Given the description of an element on the screen output the (x, y) to click on. 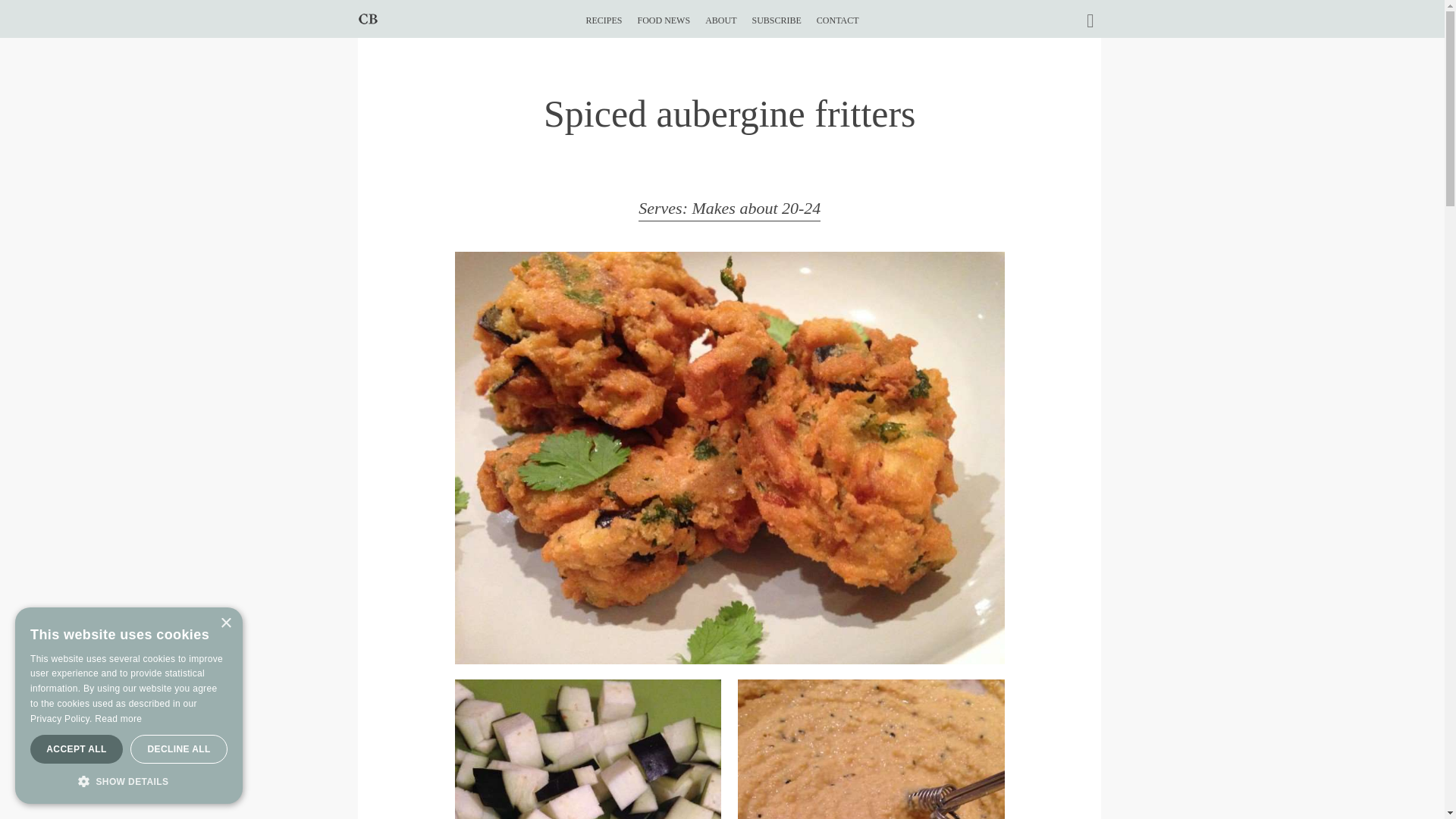
ABOUT (720, 13)
Caroline Barty (367, 18)
CONTACT (837, 13)
FOOD NEWS (663, 13)
SUBSCRIBE (775, 13)
RECIPES (603, 13)
Read more (117, 718)
